Given the description of an element on the screen output the (x, y) to click on. 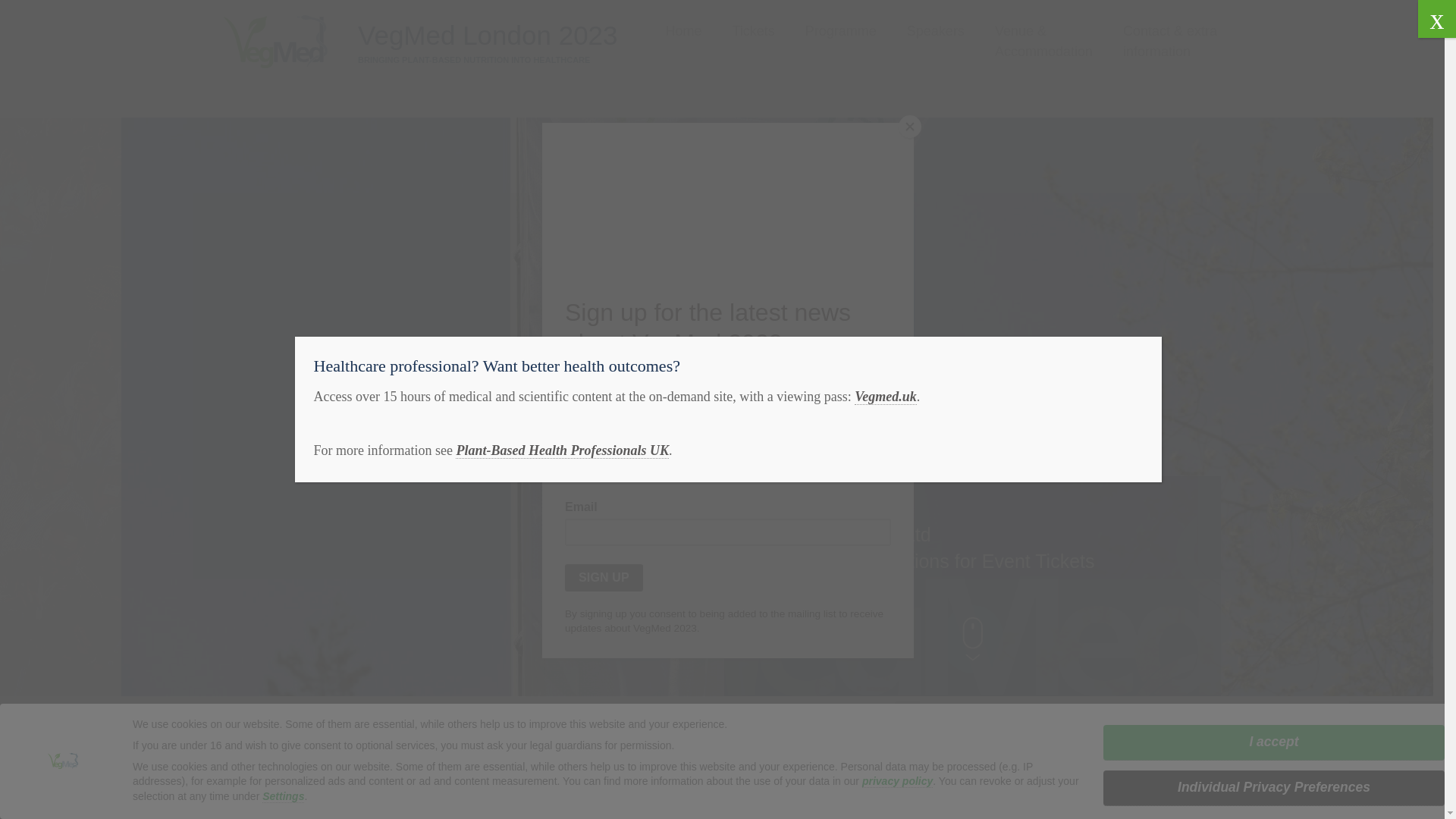
Programme (840, 31)
Speakers (935, 31)
Home (683, 31)
Vegmed.uk (885, 396)
Plant-Based Health Professionals UK (561, 450)
privacy policy (897, 780)
Tickets (753, 31)
